Given the description of an element on the screen output the (x, y) to click on. 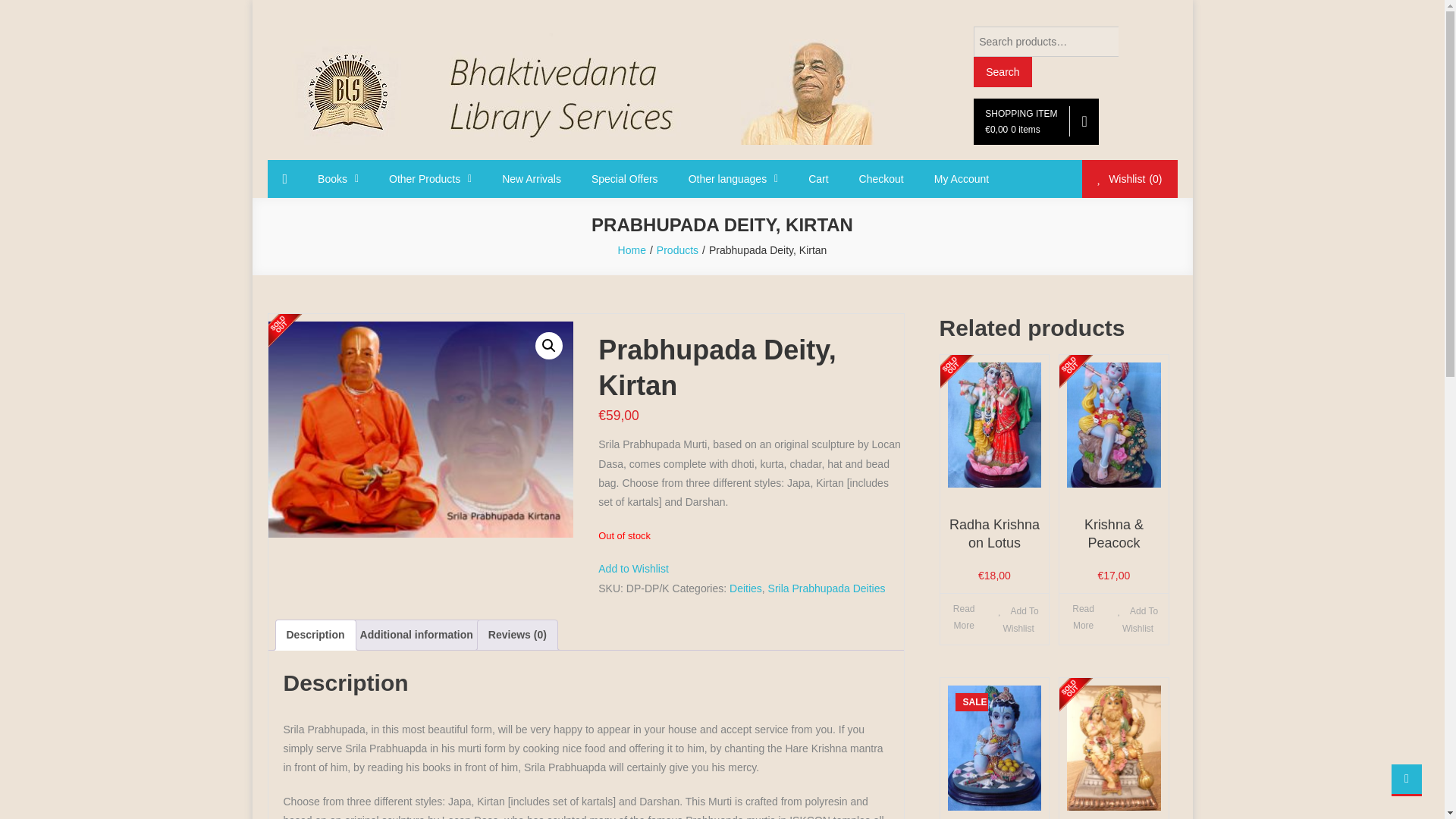
Books (338, 178)
images (420, 429)
View your shopping cart (1036, 121)
Bhaktivedanta Library Services (339, 153)
Search (1002, 71)
Wishlist Tab (1128, 178)
